Given the description of an element on the screen output the (x, y) to click on. 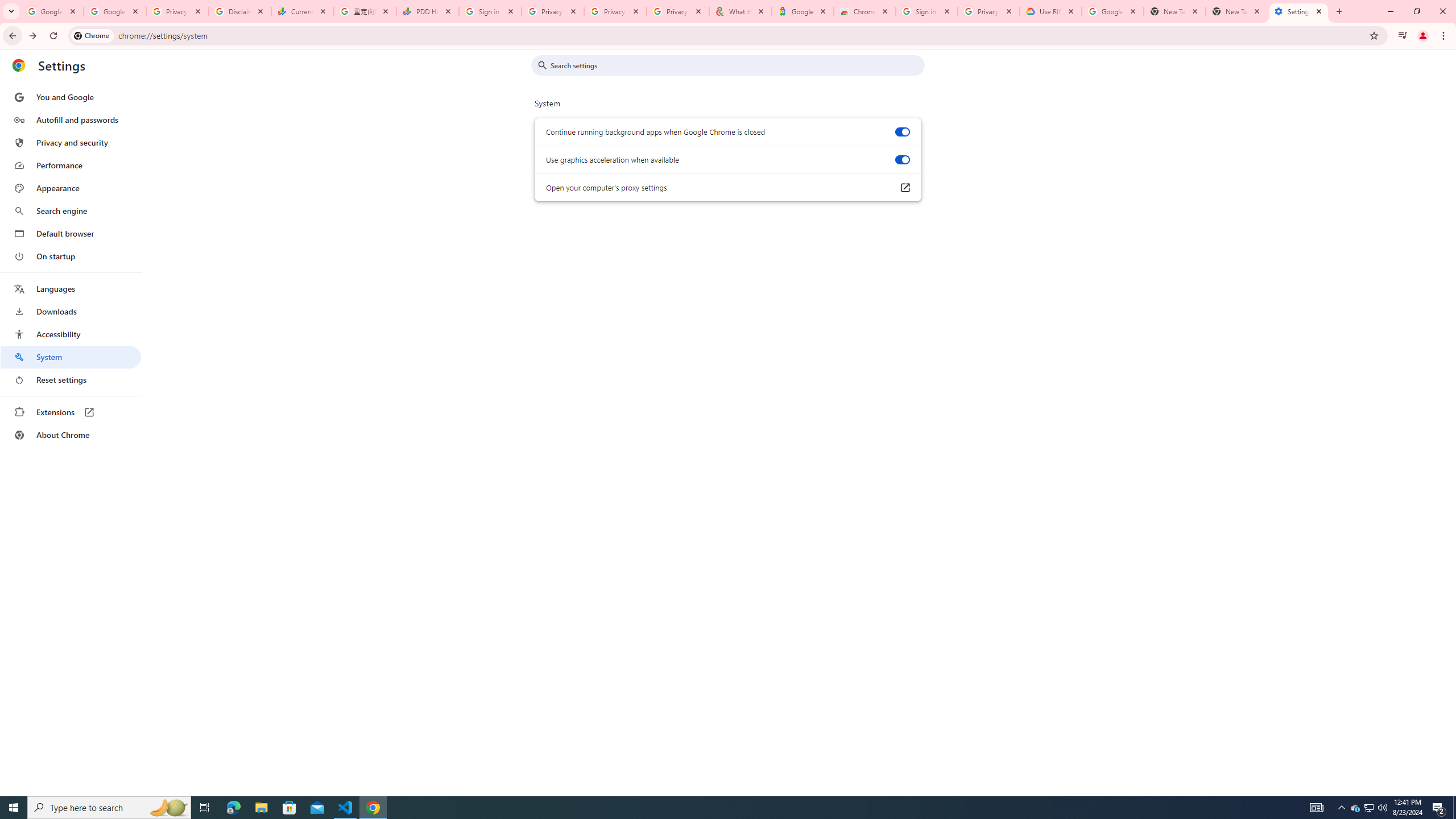
Settings - System (1298, 11)
Google (802, 11)
Default browser (70, 233)
Search engine (70, 210)
Sign in - Google Accounts (926, 11)
